Given the description of an element on the screen output the (x, y) to click on. 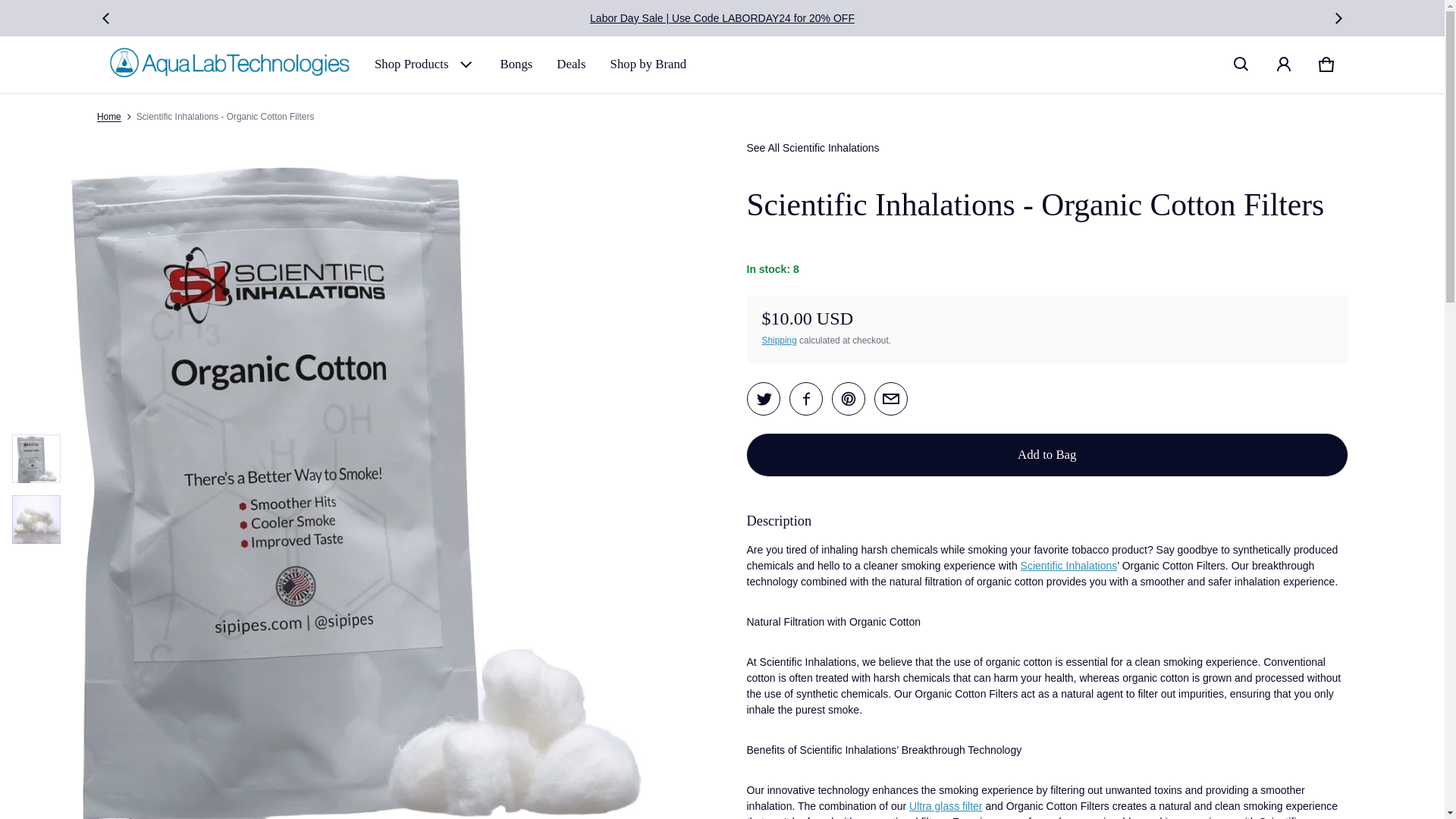
Pinterest (847, 398)
Scientific Inhalations - Organic Cotton Filters (889, 398)
Facebook (804, 398)
Scientific Inhalations (1069, 565)
Twitter (762, 398)
Ultra Glass Filter (944, 806)
